Given the description of an element on the screen output the (x, y) to click on. 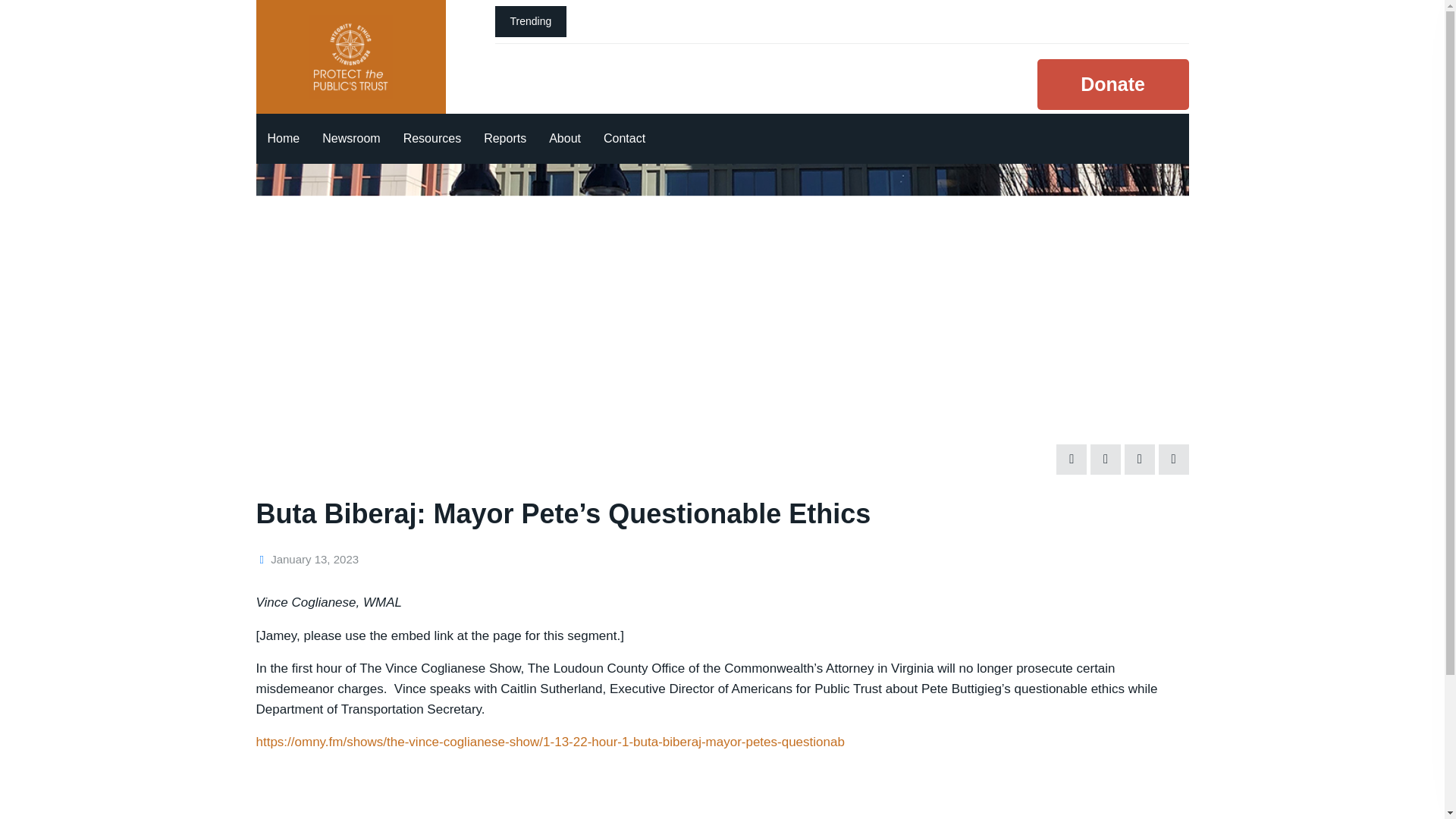
Home (283, 138)
About (564, 138)
Contact (624, 138)
Donate (1112, 83)
Newsroom (351, 138)
Reports (504, 138)
Resources (431, 138)
